Given the description of an element on the screen output the (x, y) to click on. 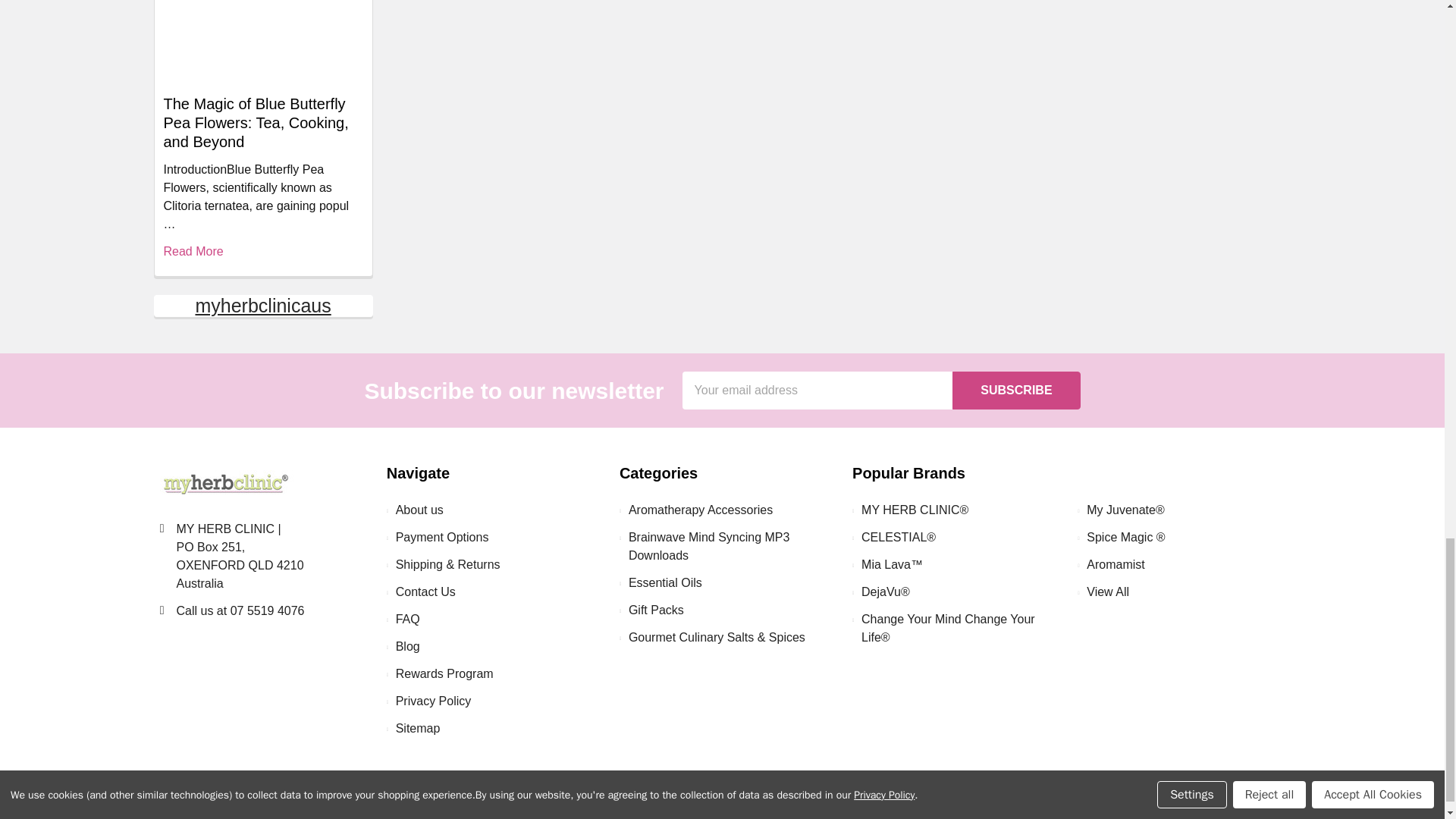
Subscribe (1016, 390)
